Given the description of an element on the screen output the (x, y) to click on. 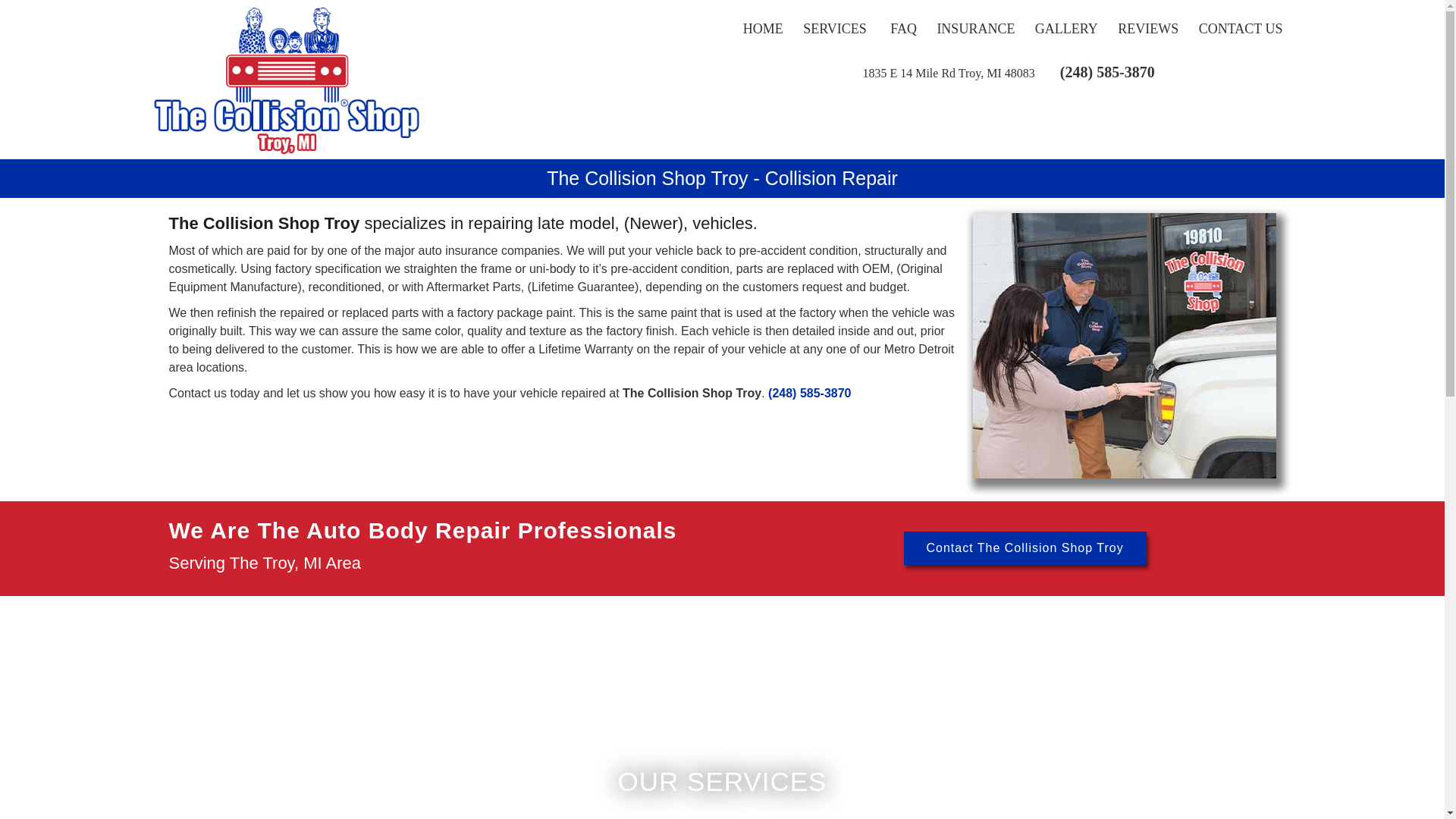
REVIEWS (1147, 29)
GALLERY (1066, 29)
FAQ (903, 29)
HOME (762, 29)
SERVICES (836, 29)
Contact The Collision Shop Troy (1025, 548)
Our Services (836, 29)
INSURANCE (975, 29)
1835 E 14 Mile Rd Troy, MI 48083 (947, 72)
CONTACT US (1240, 29)
